Given the description of an element on the screen output the (x, y) to click on. 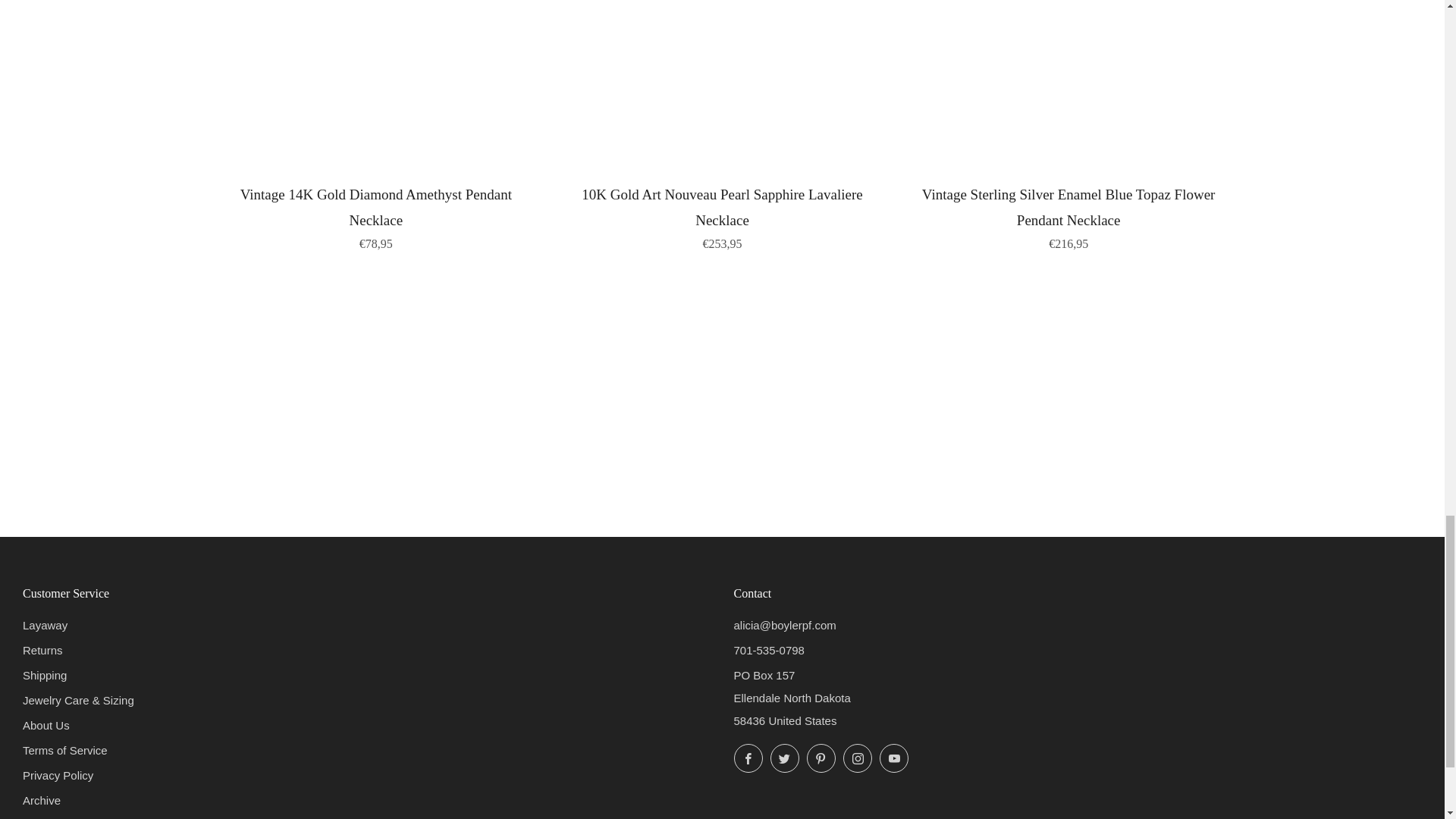
10K Gold Art Nouveau Pearl Sapphire Lavaliere Necklace (721, 215)
Vintage 14K Gold Diamond Amethyst Pendant Necklace (376, 215)
